Given the description of an element on the screen output the (x, y) to click on. 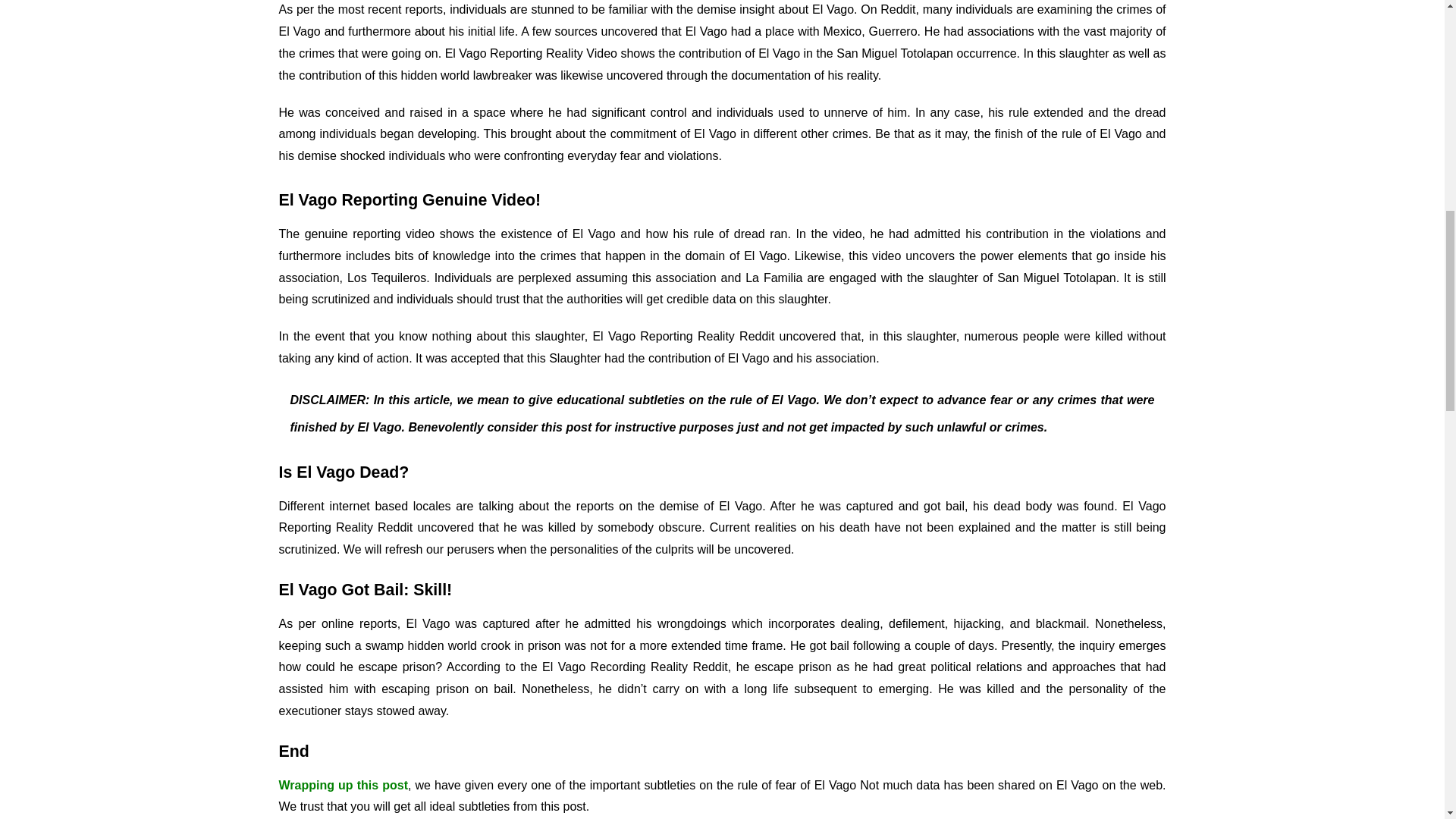
Wrapping up this post (343, 784)
